Given the description of an element on the screen output the (x, y) to click on. 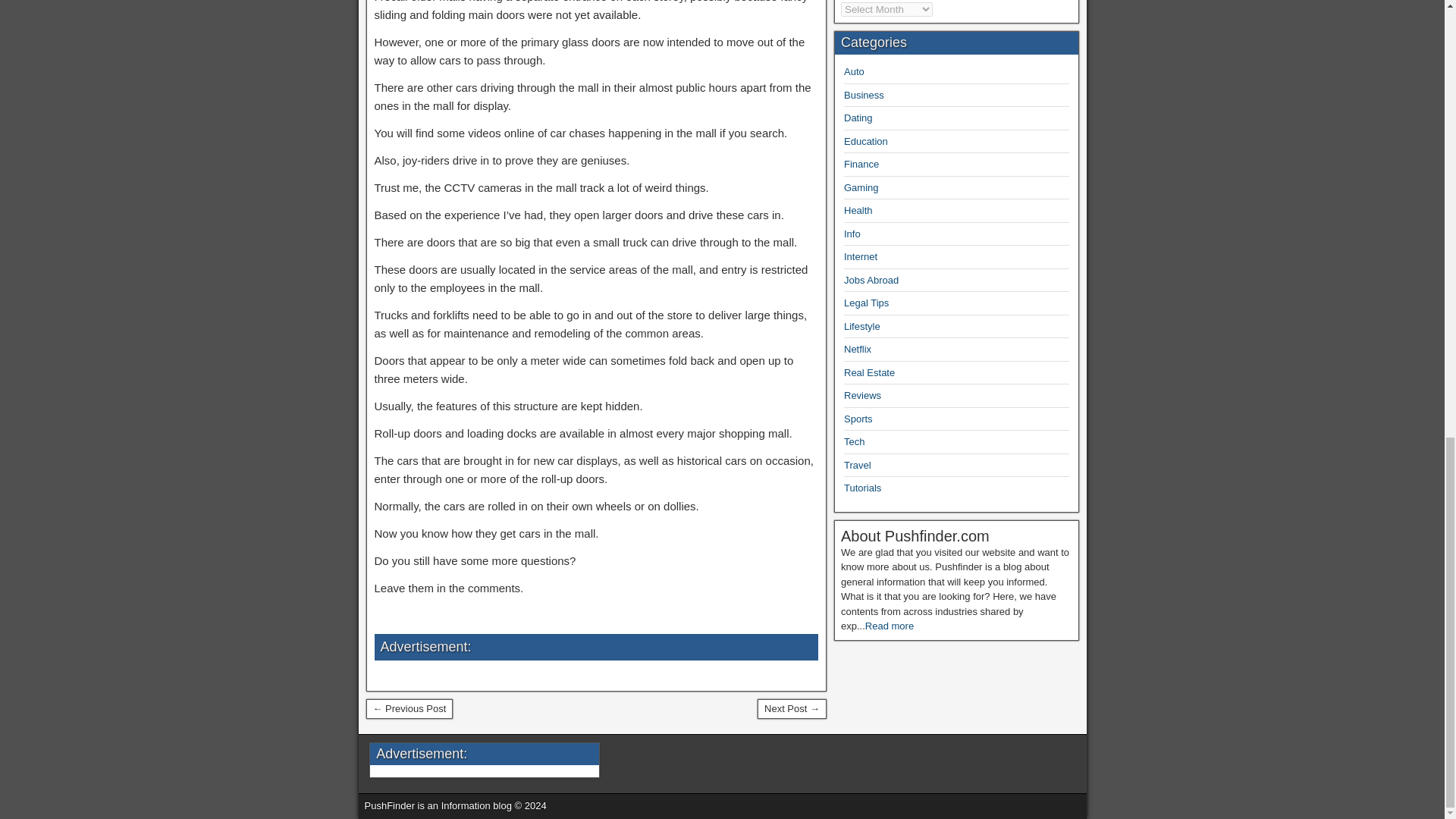
Auto (854, 71)
Education (866, 141)
Info (852, 233)
Dating (858, 117)
Health (858, 210)
Business (863, 94)
Jobs Abroad (871, 279)
Moving from Dating to a Strong Relationship (792, 709)
Internet (860, 256)
Gaming (861, 187)
